Given the description of an element on the screen output the (x, y) to click on. 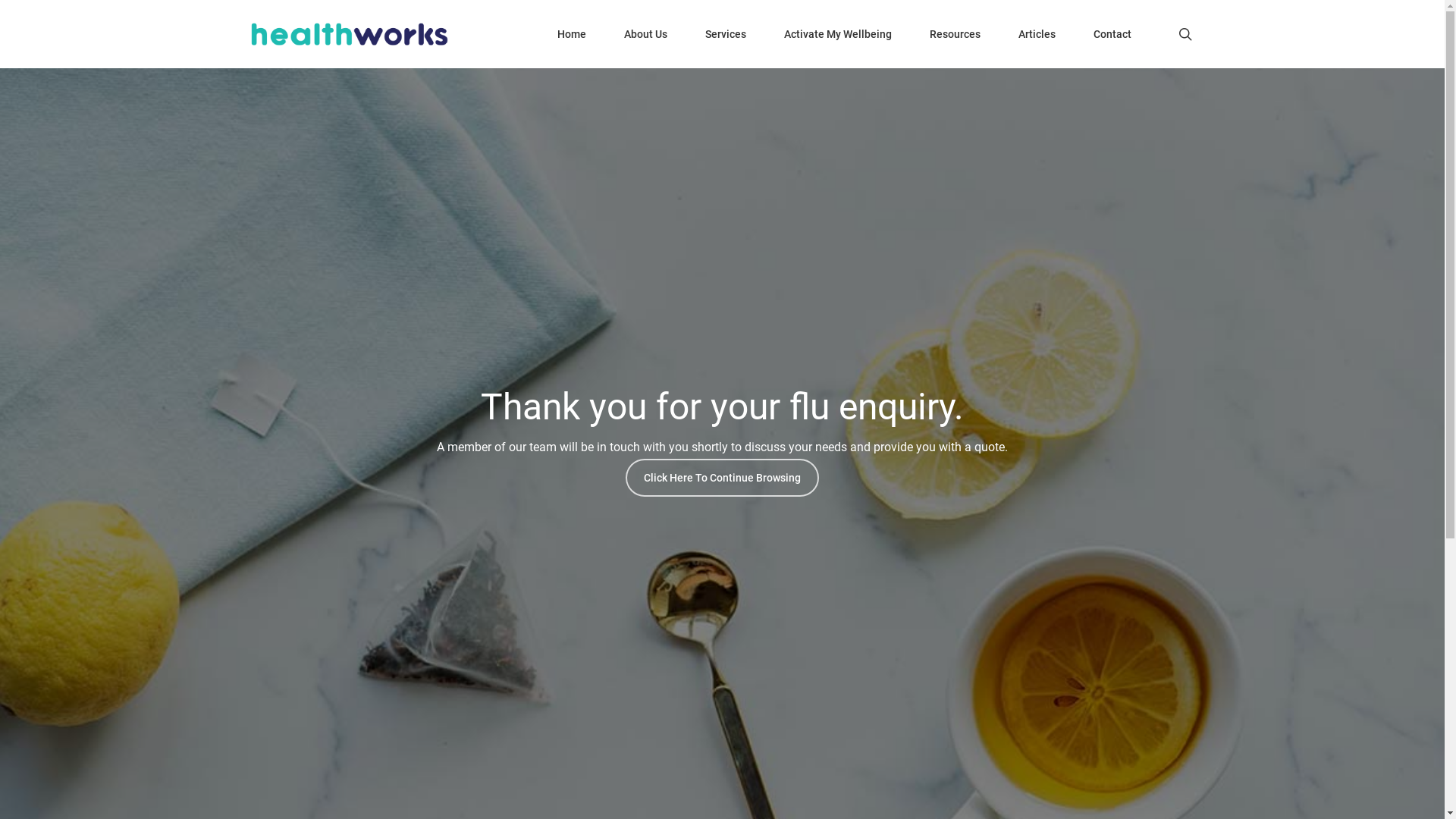
Activate My Wellbeing Element type: text (837, 33)
Click Here To Continue Browsing Element type: text (722, 477)
1300 90 10 90 Element type: text (742, 499)
Services Element type: text (725, 33)
Articles Element type: text (1036, 33)
search Element type: text (1185, 33)
Home Element type: text (571, 33)
linkedin Element type: text (748, 709)
Resources Element type: text (954, 33)
Terms & Conditions Element type: text (574, 613)
facebook Element type: text (695, 709)
Privacy Policy  Element type: text (459, 613)
2023 Health Awareness Event Calendar Element type: text (919, 613)
About Us Element type: text (645, 33)
ask@healthworks.com.au Element type: text (740, 537)
Contact Element type: text (1112, 33)
